Given the description of an element on the screen output the (x, y) to click on. 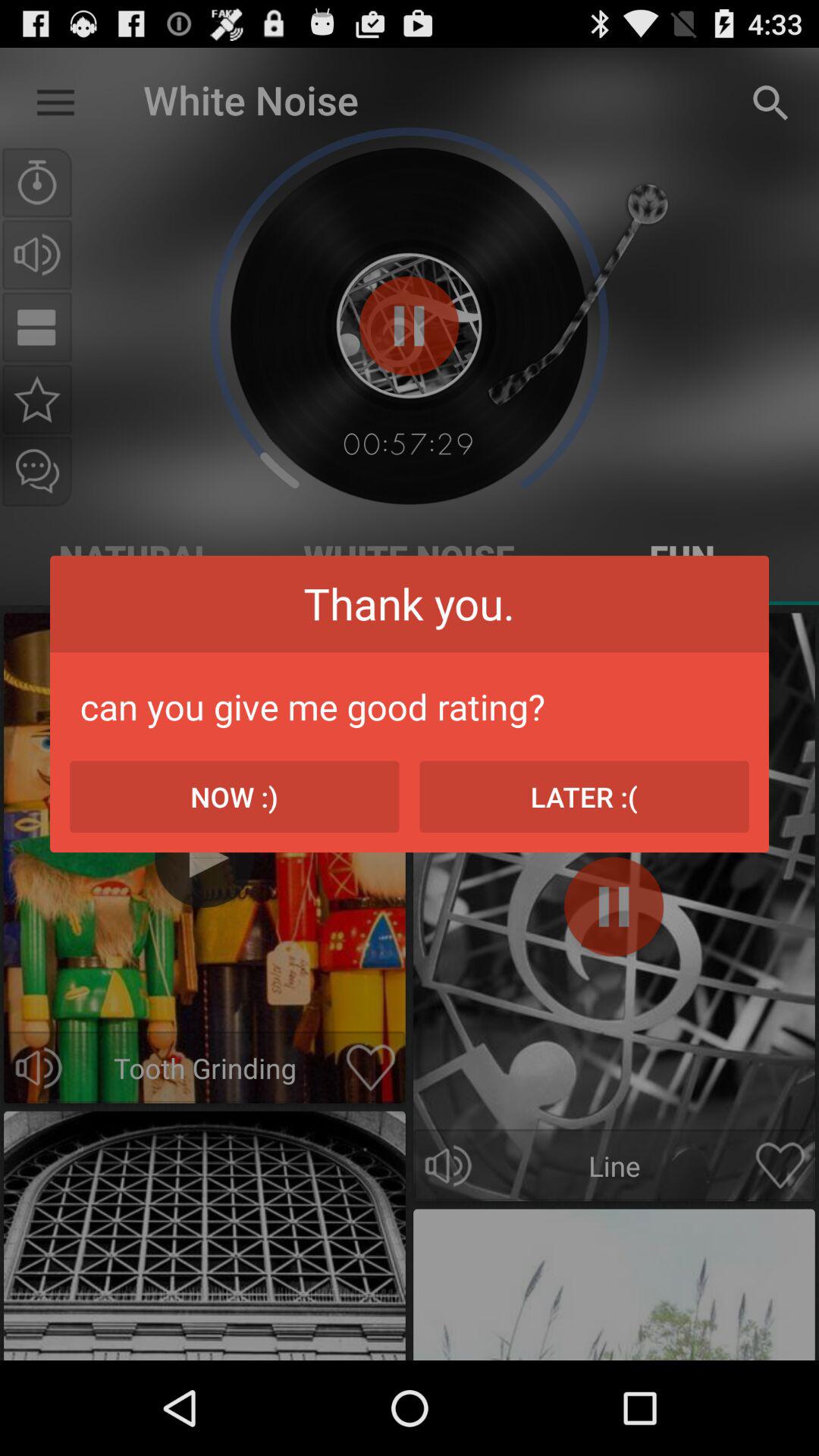
select the now :) icon (234, 796)
